Given the description of an element on the screen output the (x, y) to click on. 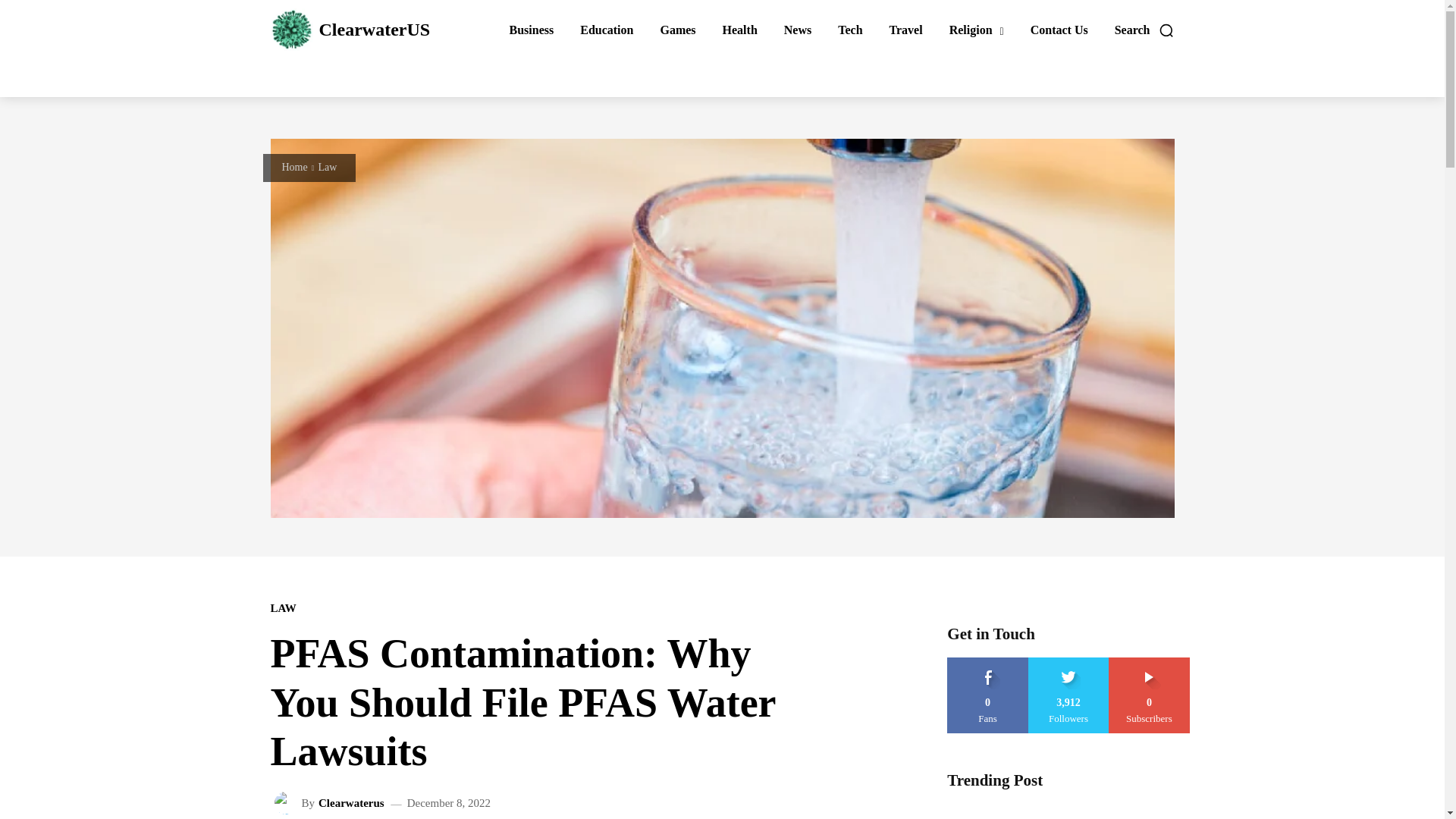
View all posts in Law (326, 166)
Education (606, 30)
Law (326, 166)
Search (1144, 30)
Health (740, 30)
clearwaterus (288, 802)
Travel (905, 30)
Home (294, 166)
News (797, 30)
LAW (282, 608)
Clearwaterus (351, 803)
ClearwaterUS (349, 28)
Contact Us (1059, 30)
Tech (850, 30)
Business (531, 30)
